Given the description of an element on the screen output the (x, y) to click on. 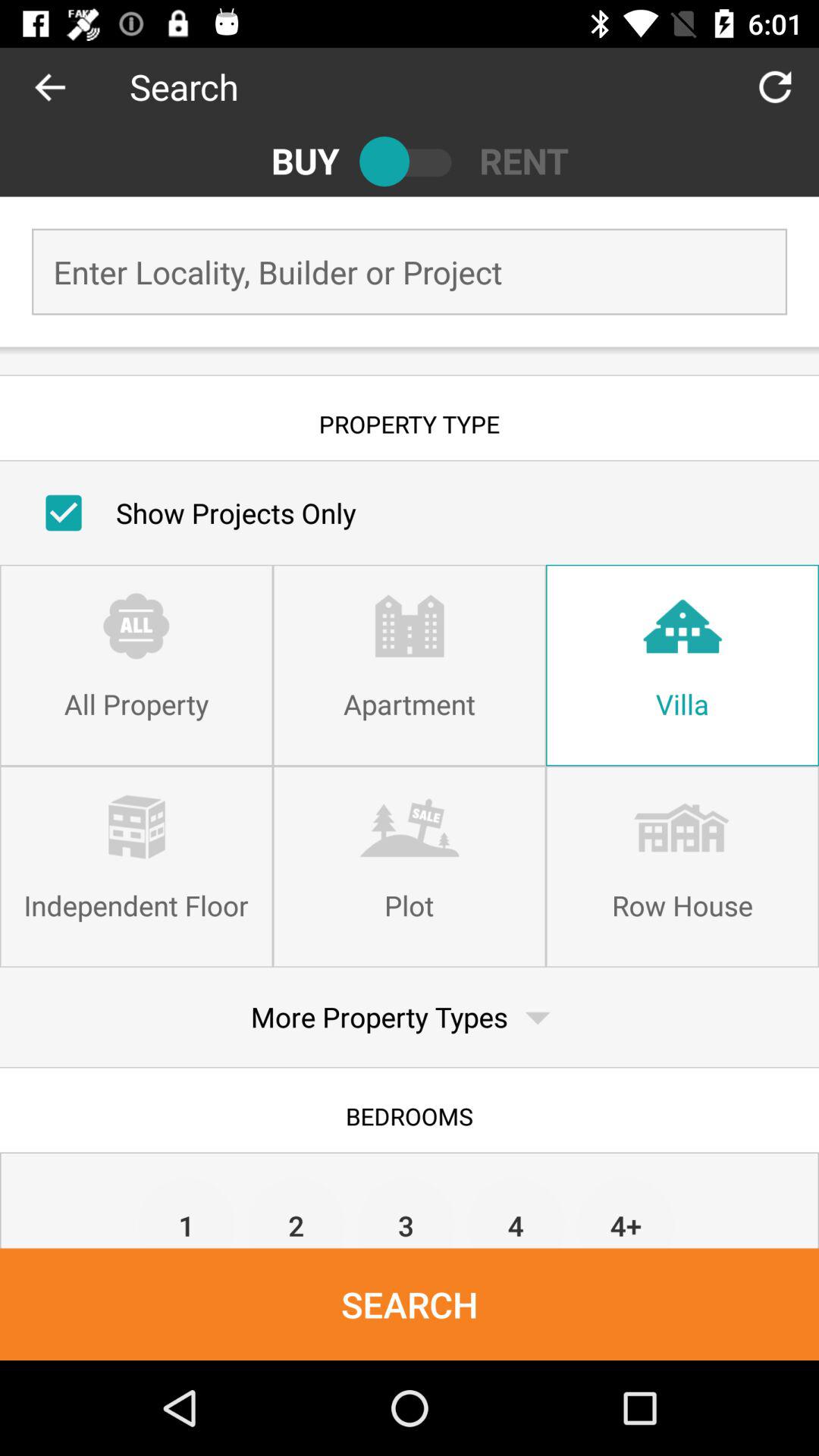
select icon next to the rent icon (409, 161)
